Given the description of an element on the screen output the (x, y) to click on. 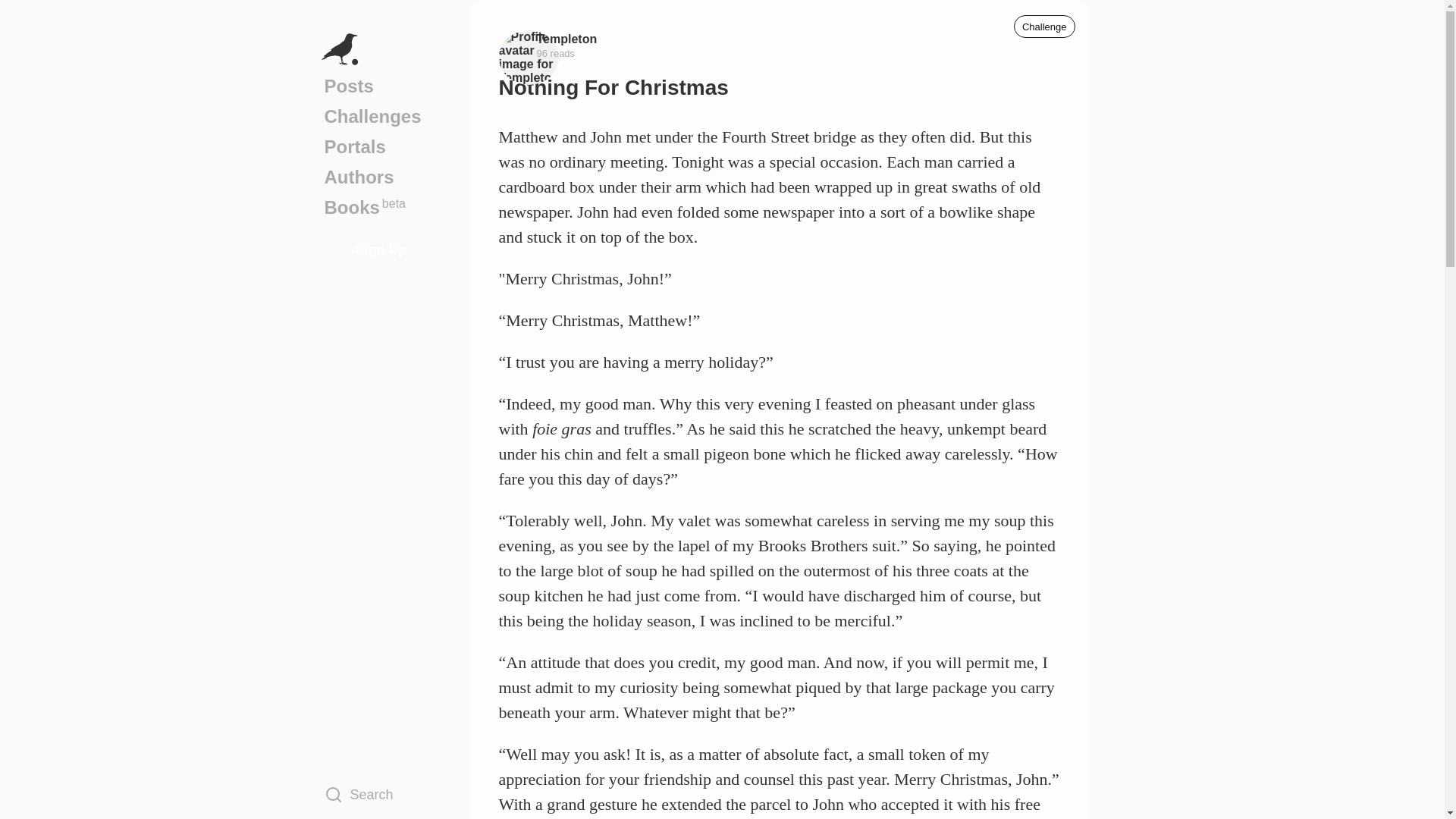
Templeton (381, 207)
Portals (566, 38)
Authors (381, 146)
Challenges (381, 177)
Challenge (381, 116)
Posts (1044, 26)
Search (381, 86)
